Given the description of an element on the screen output the (x, y) to click on. 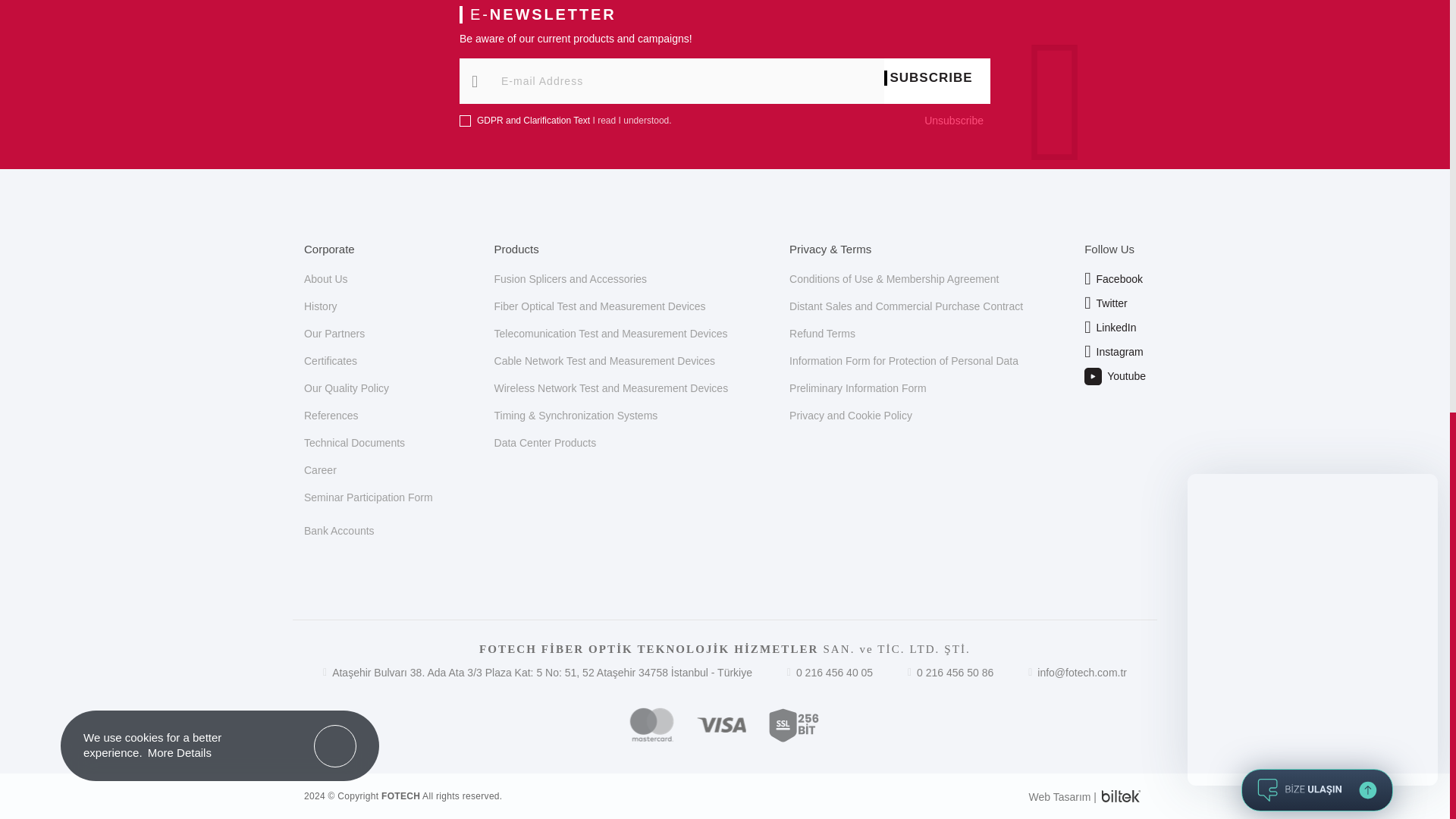
SUBSCRIBE (936, 77)
